Given the description of an element on the screen output the (x, y) to click on. 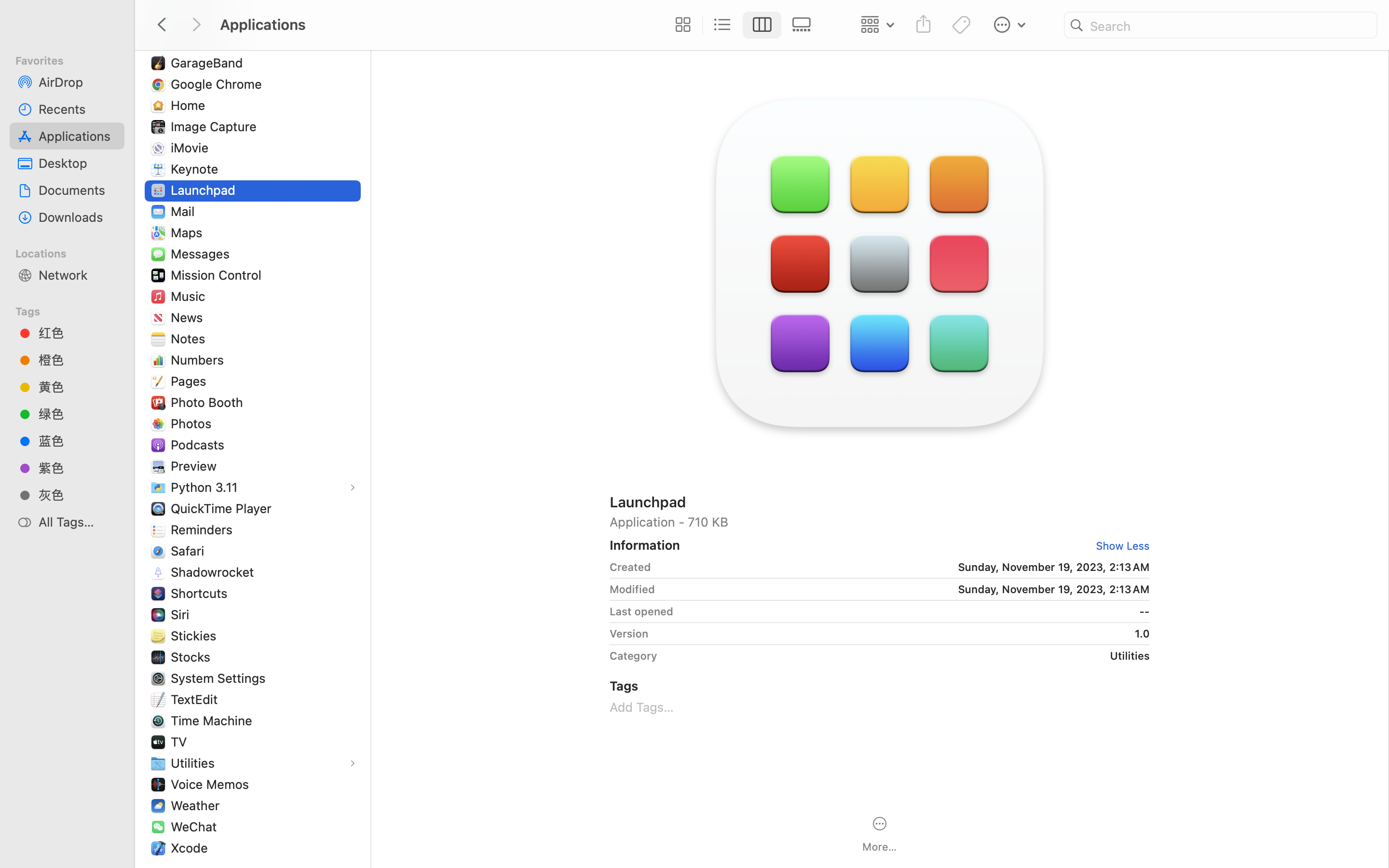
Application - 710 KB Element type: AXStaticText (879, 521)
Documents Element type: AXStaticText (77, 189)
黄色 Element type: AXStaticText (77, 386)
Tags Element type: AXStaticText (72, 309)
红色 Element type: AXStaticText (77, 332)
